Given the description of an element on the screen output the (x, y) to click on. 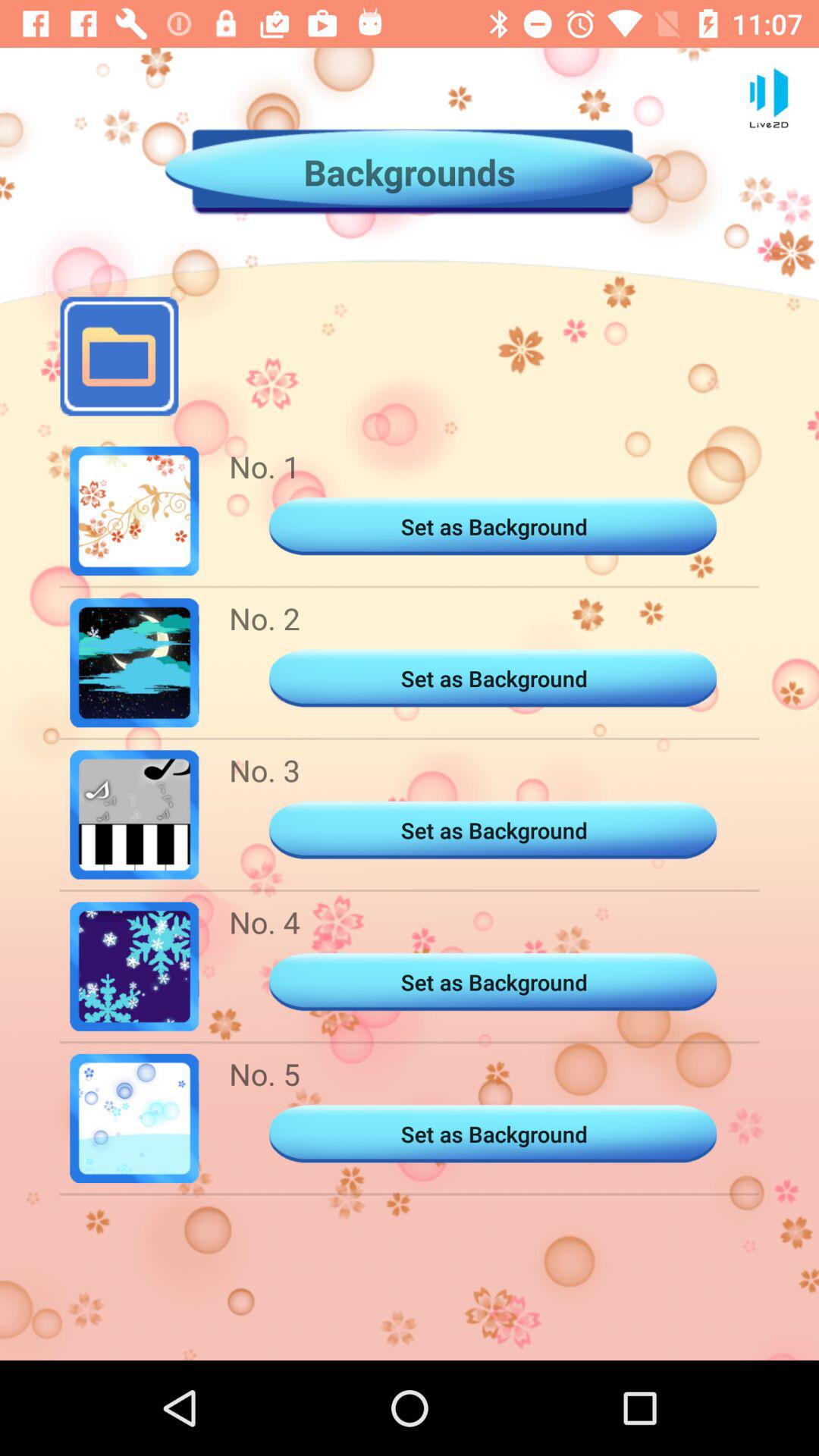
go to files (119, 356)
